Given the description of an element on the screen output the (x, y) to click on. 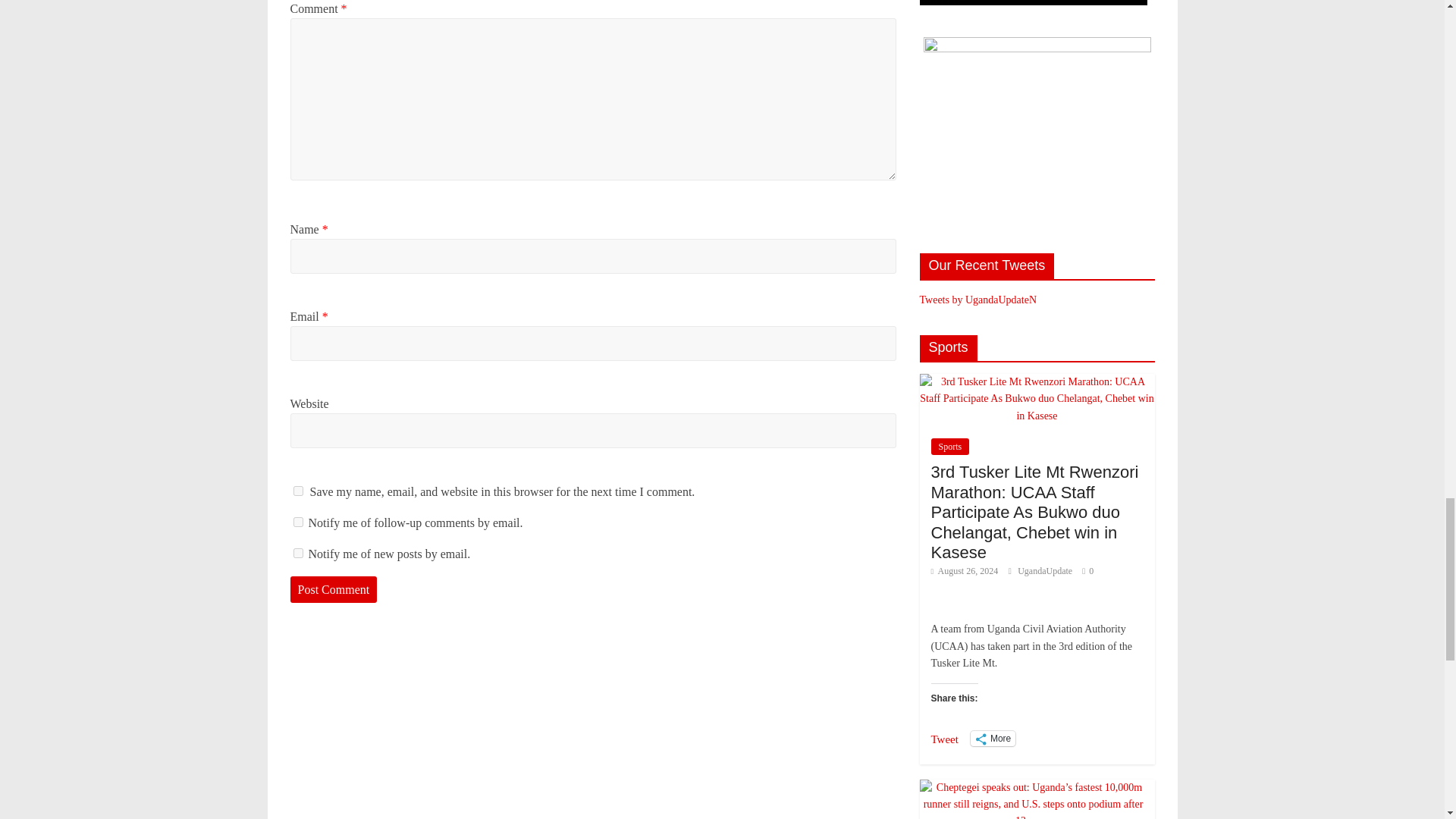
Post Comment (333, 589)
subscribe (297, 552)
subscribe (297, 521)
yes (297, 491)
